Given the description of an element on the screen output the (x, y) to click on. 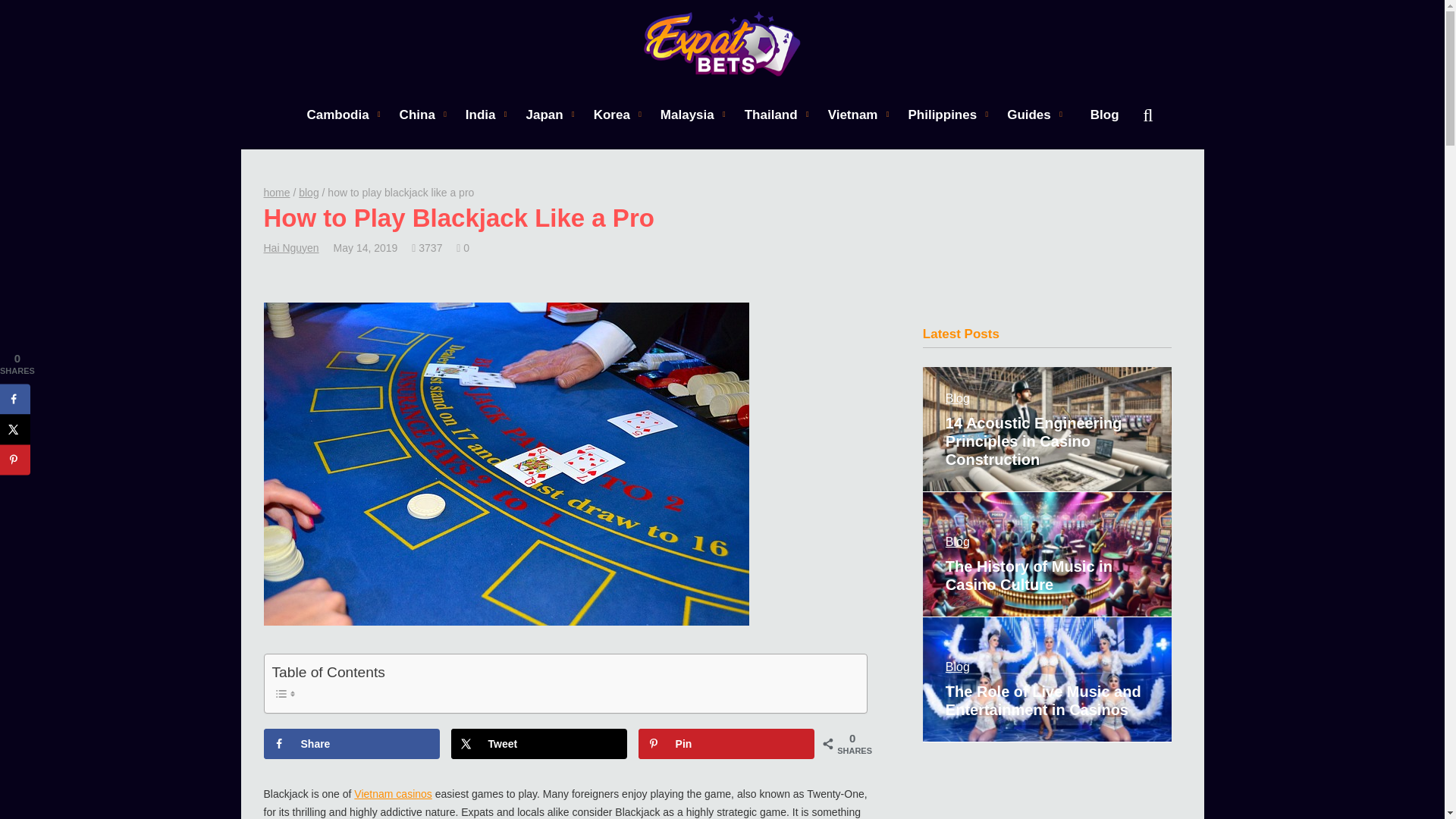
Share on X (539, 743)
Cambodia (336, 114)
Share on Facebook (352, 743)
Posts by Hai Nguyen (290, 247)
Expat Bets (721, 43)
